Given the description of an element on the screen output the (x, y) to click on. 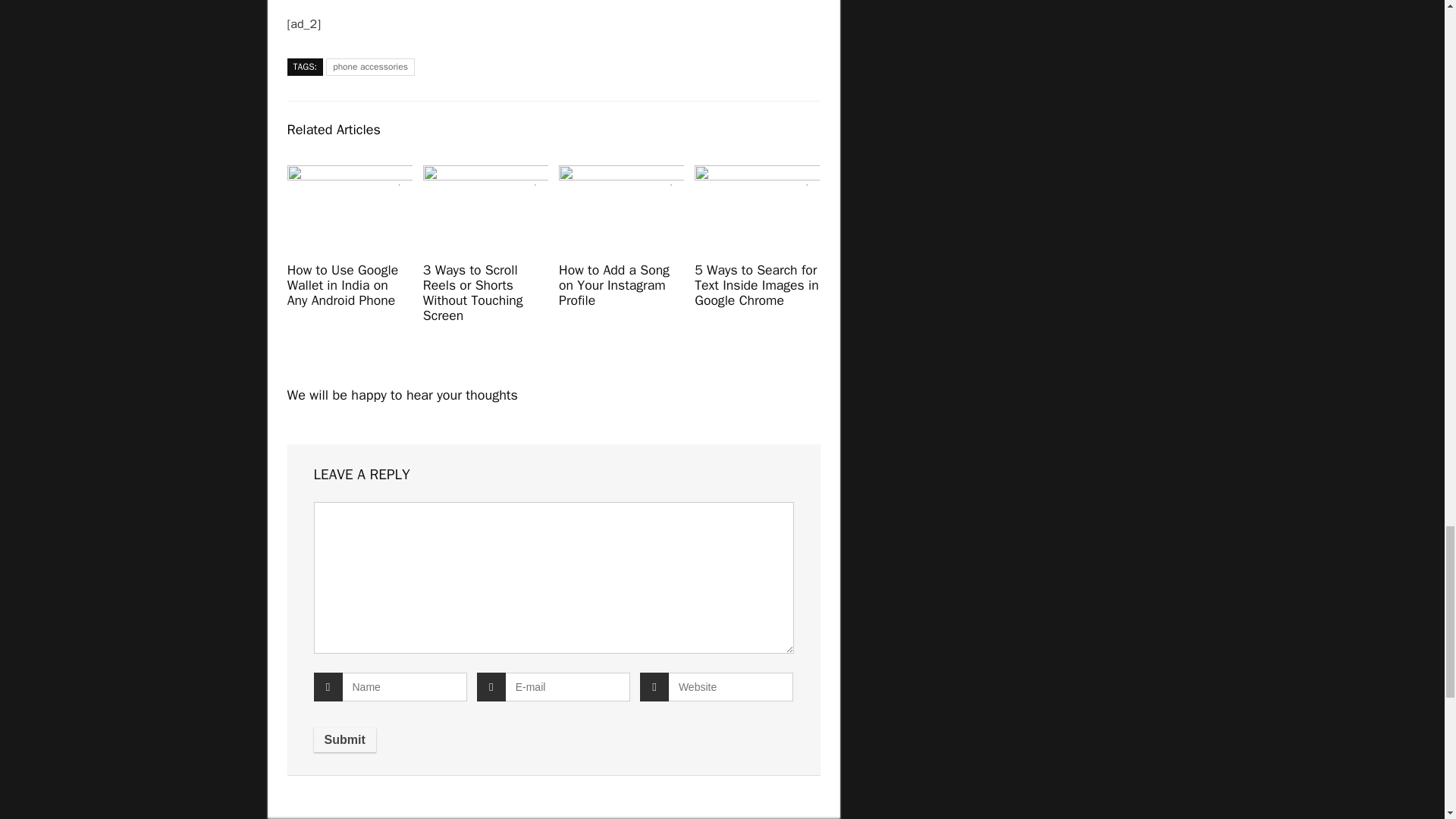
Submit (344, 740)
Submit (344, 740)
How to Use Google Wallet in India on Any Android Phone (342, 284)
How to Add a Song on Your Instagram Profile (614, 284)
5 Ways to Search for Text Inside Images in Google Chrome (756, 284)
3 Ways to Scroll Reels or Shorts Without Touching Screen (472, 292)
phone accessories (370, 67)
